Given the description of an element on the screen output the (x, y) to click on. 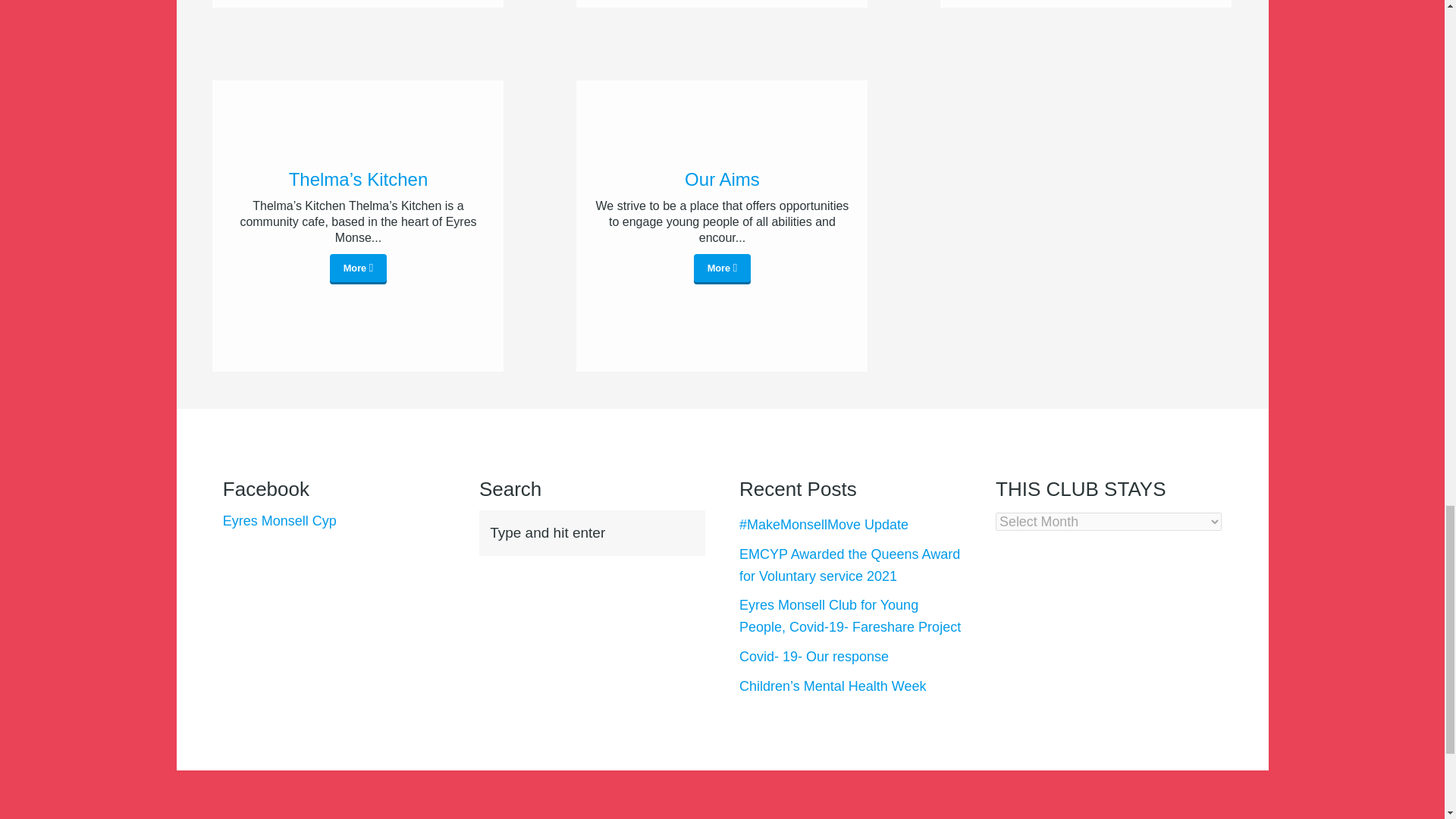
Eyres Monsell Cyp (279, 520)
Our Aims (721, 178)
Covid- 19- Our response (813, 656)
EMCYP Awarded the Queens Award for Voluntary service 2021 (849, 565)
Our Aims (721, 178)
More (722, 268)
More (358, 268)
Our Aims (722, 268)
